Given the description of an element on the screen output the (x, y) to click on. 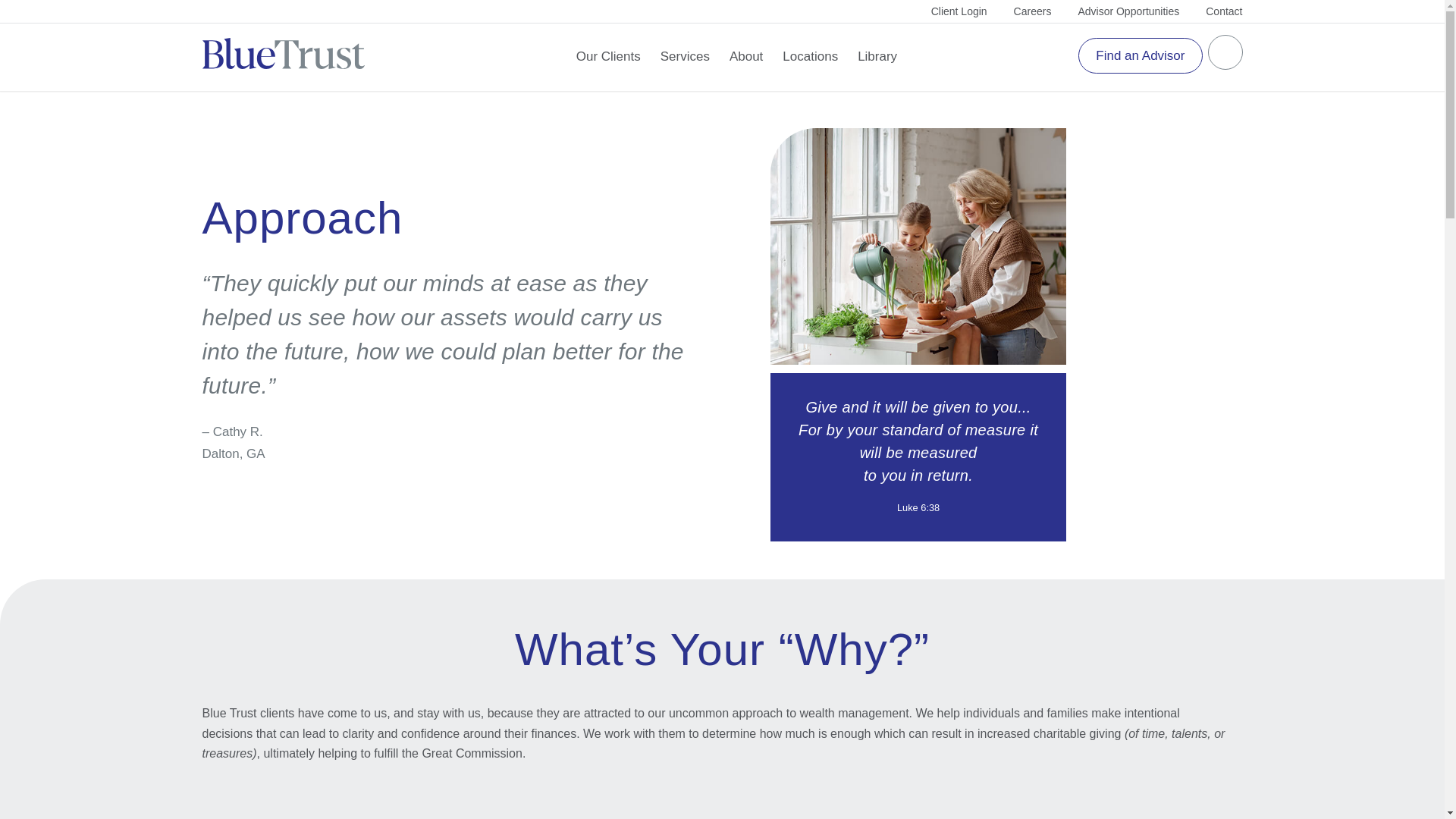
Our Clients (608, 56)
Advisor Opportunities (1128, 11)
BlueTrust-Logo (283, 56)
BlueTrust-Logo (283, 52)
Contact (1223, 11)
Services (684, 56)
Careers (1032, 11)
Locations (810, 56)
Client Login (959, 11)
